Given the description of an element on the screen output the (x, y) to click on. 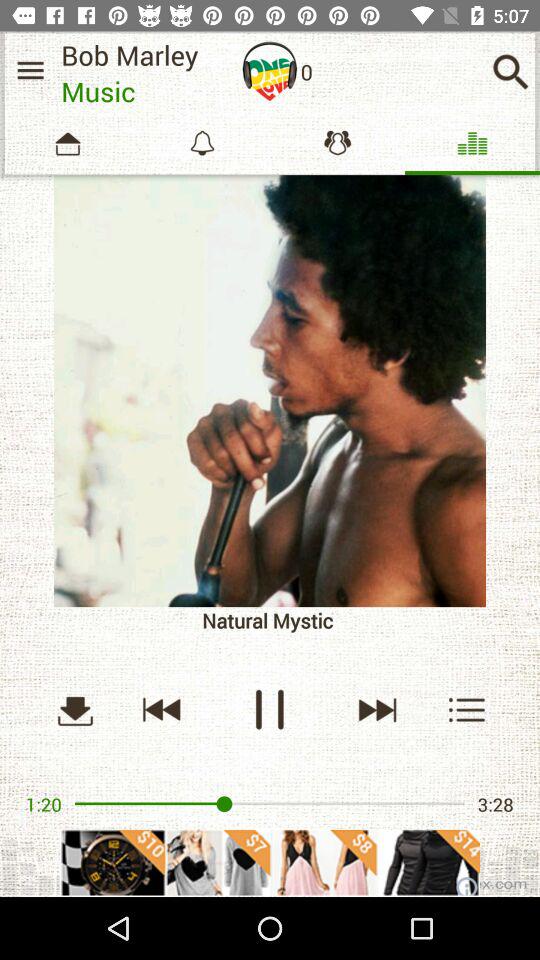
pause (269, 709)
